Given the description of an element on the screen output the (x, y) to click on. 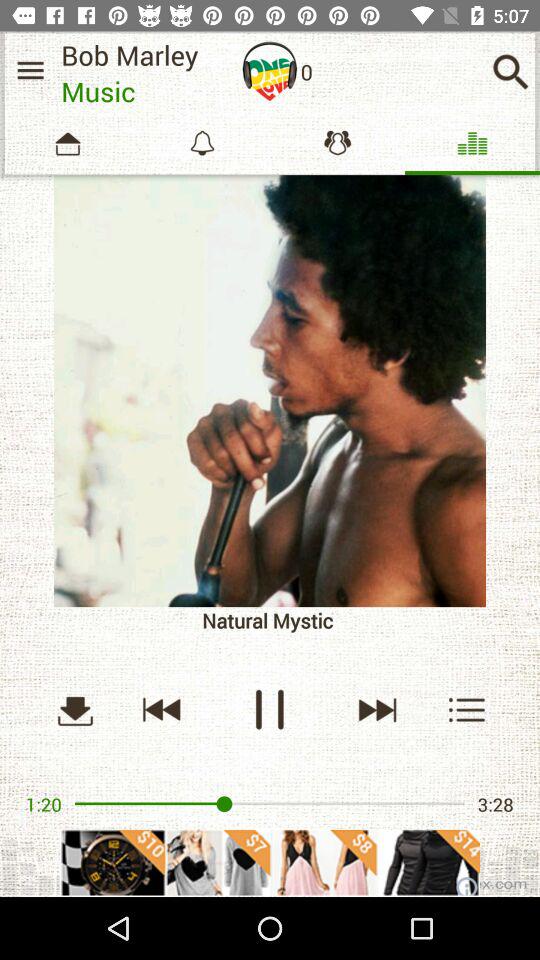
pause (269, 709)
